Given the description of an element on the screen output the (x, y) to click on. 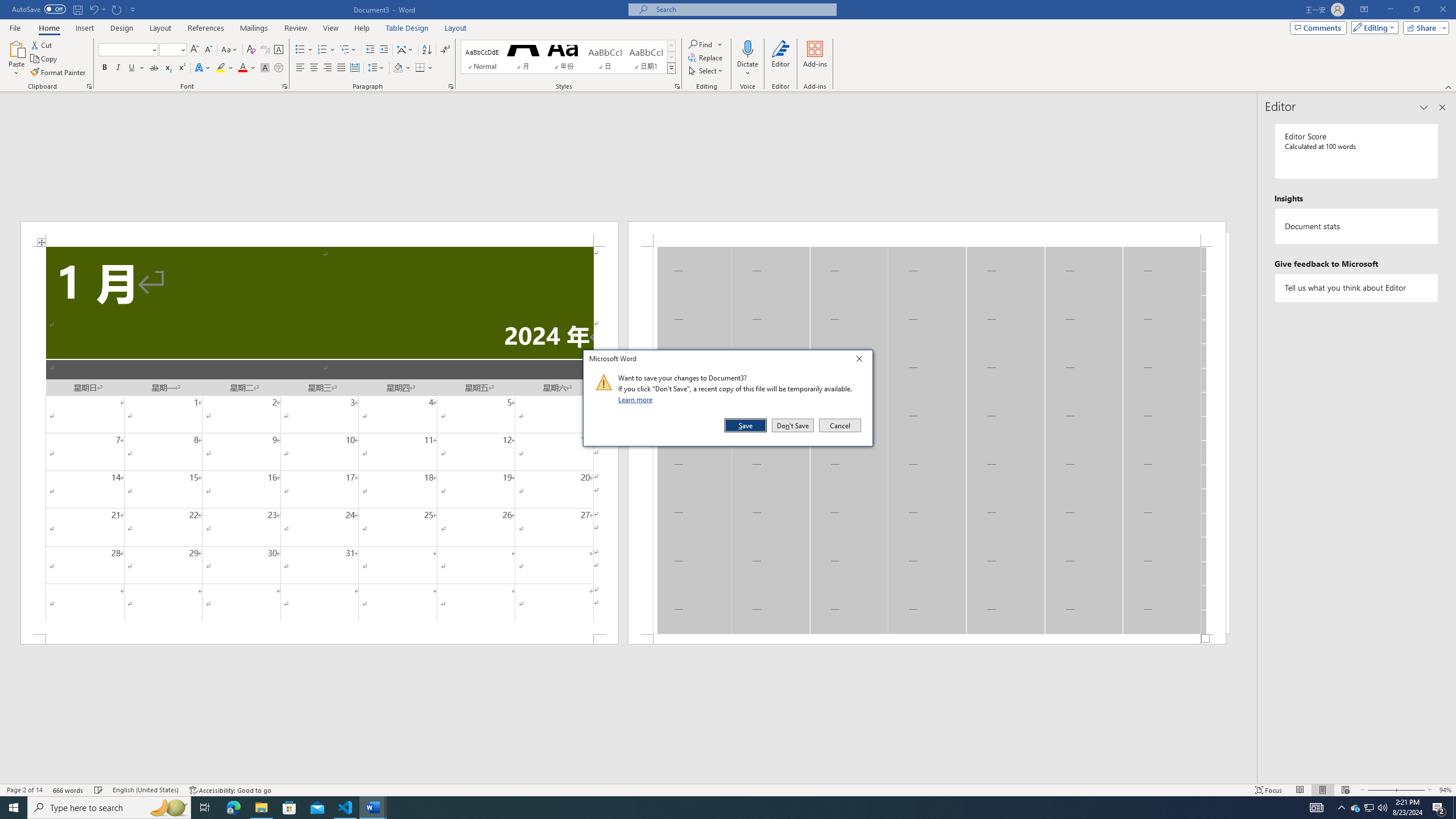
Find (705, 44)
Close (862, 360)
Cancel (839, 425)
Class: MsoCommandBar (728, 789)
File Tab (15, 27)
Enclose Characters... (278, 67)
Styles... (676, 85)
System (6, 6)
AutomationID: 4105 (1316, 807)
Paste (16, 58)
Italic (118, 67)
Home (48, 28)
Font Size (172, 49)
